Given the description of an element on the screen output the (x, y) to click on. 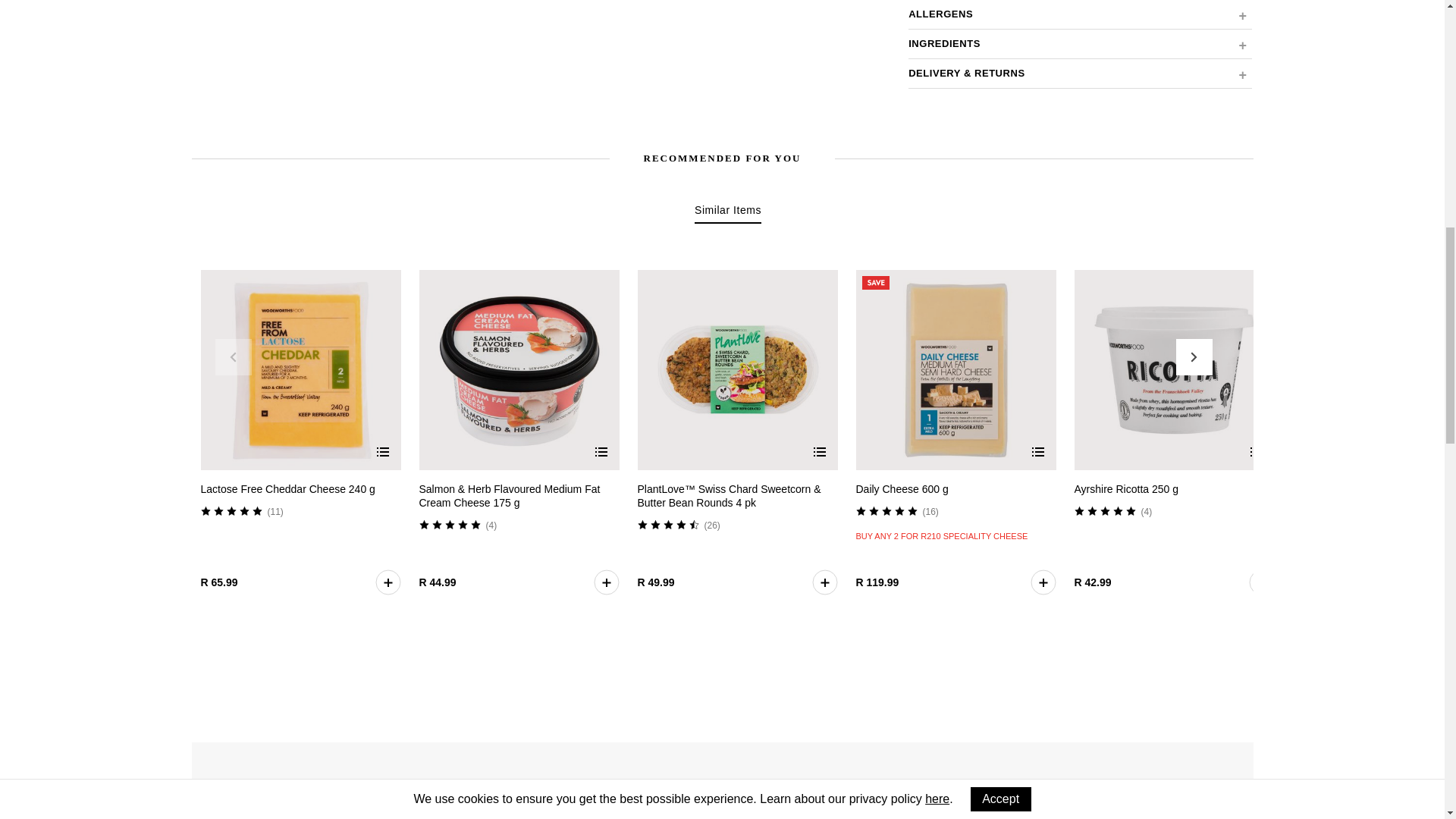
Buy any 2 for R210  Speciality Cheese (941, 532)
Similar Items (727, 212)
Similar Items (727, 212)
Previous (233, 357)
Lactose Free Cheddar Cheese 240 g (287, 489)
Daily Cheese 600 g (901, 489)
